Given the description of an element on the screen output the (x, y) to click on. 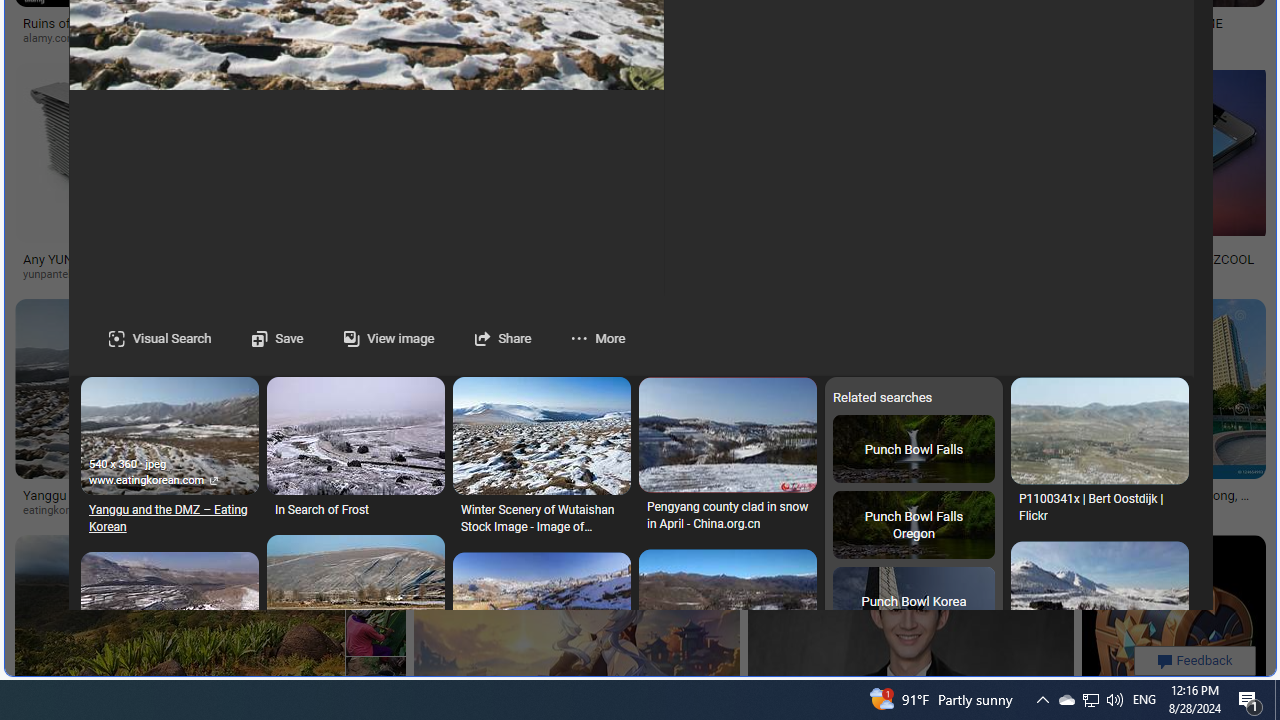
alamy.com (56, 37)
See related image detail. In Search of Frost (355, 436)
Punch Bowl Falls (913, 448)
See related image detail. P1100341x | Bert Oostdijk | Flickr (1099, 431)
SaveP1100341x | Bert Oostdijk | Flickr (1099, 455)
